Given the description of an element on the screen output the (x, y) to click on. 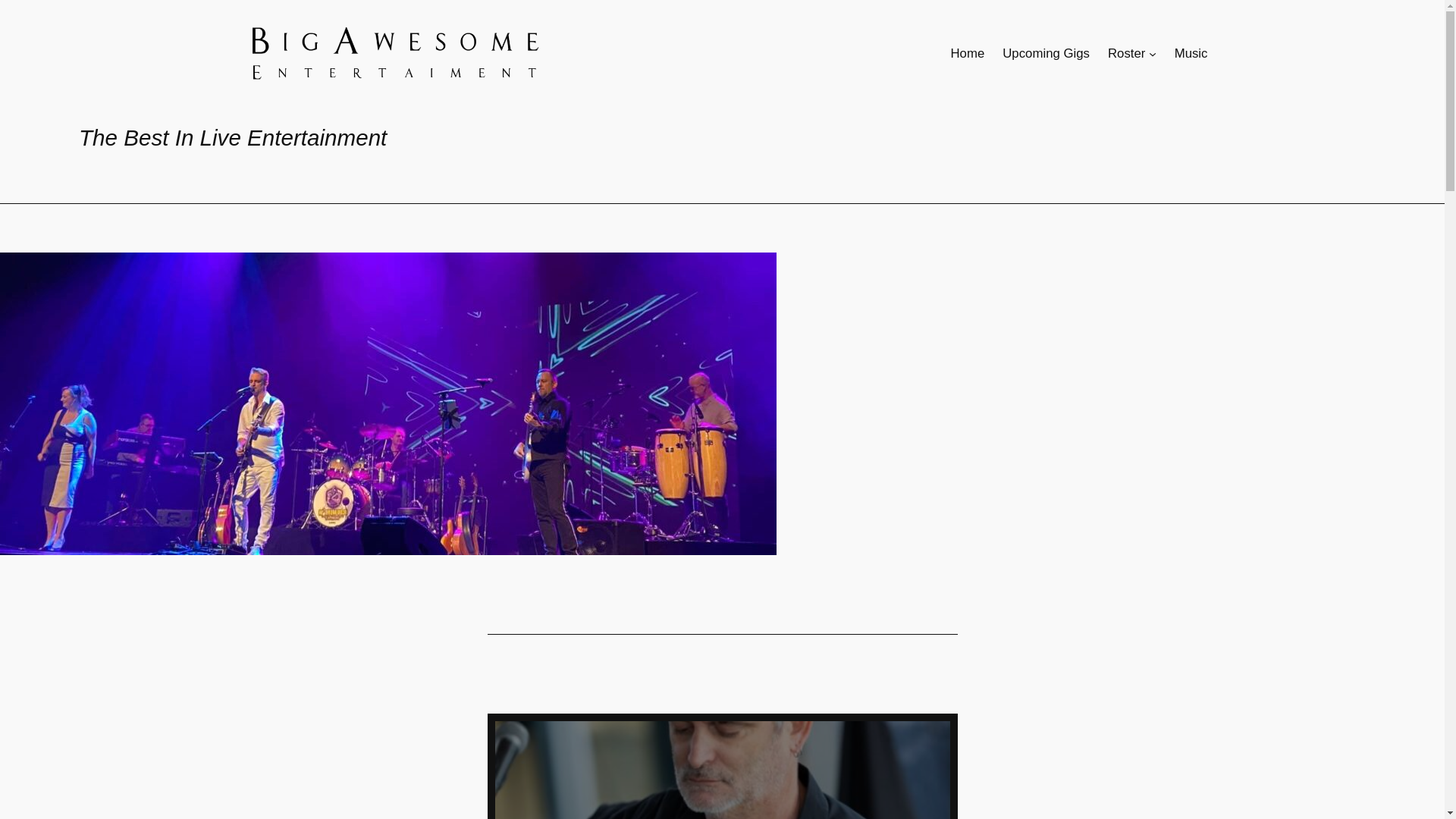
Upcoming Gigs Element type: text (1045, 53)
Music Element type: text (1191, 53)
Roster Element type: text (1126, 53)
Home Element type: text (967, 53)
